Given the description of an element on the screen output the (x, y) to click on. 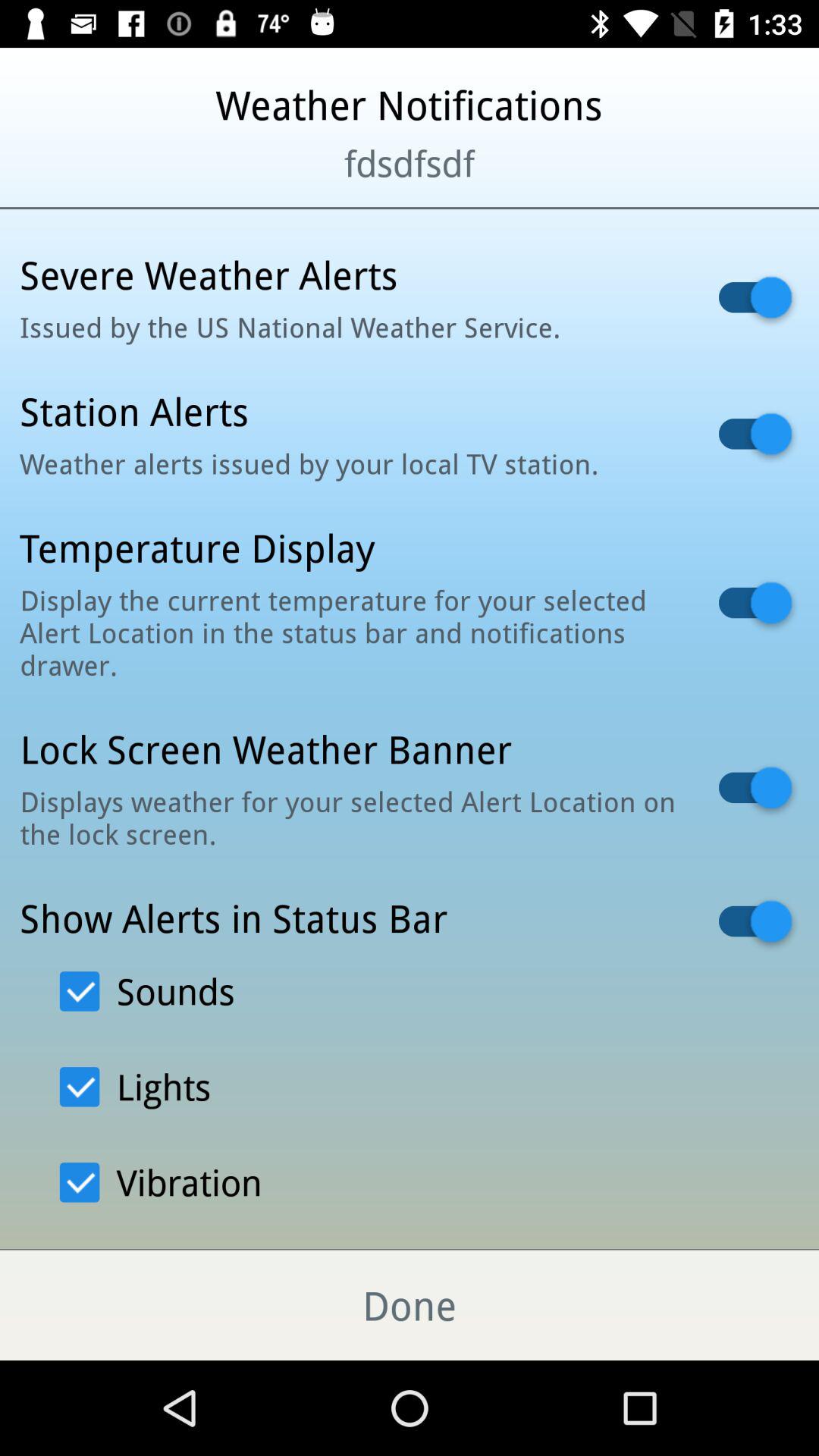
launch the icon below lock screen weather (349, 817)
